Given the description of an element on the screen output the (x, y) to click on. 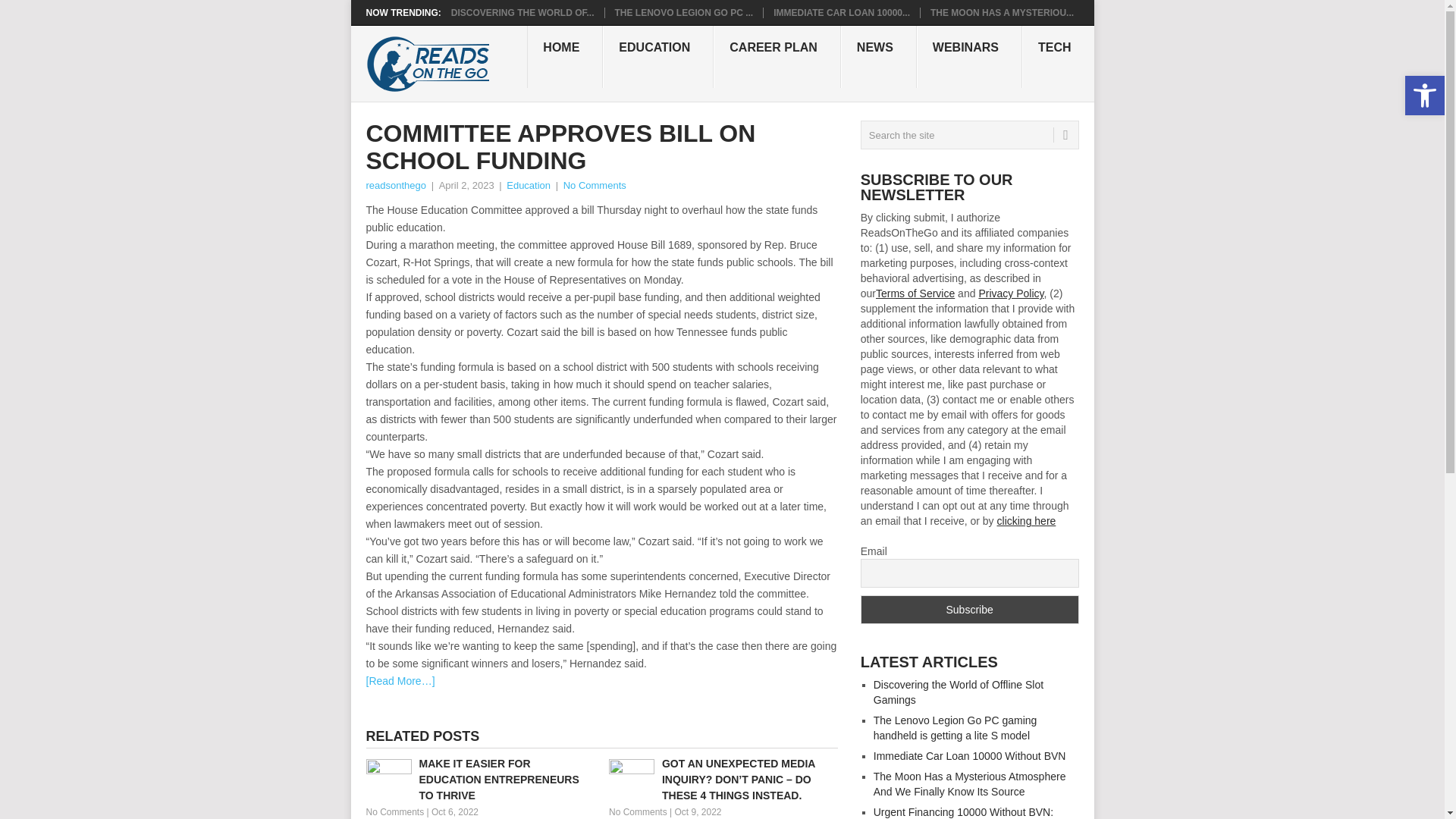
MAKE IT EASIER FOR EDUCATION ENTREPRENEURS TO THRIVE (479, 779)
TECH (1058, 56)
Make it easier for education entrepreneurs to thrive (479, 779)
No Comments (637, 811)
NEWS (879, 56)
IMMEDIATE CAR LOAN 10000... (841, 12)
Discovering the World of Offline Slot Gamings (522, 12)
Accessibility Tools (1424, 95)
Posts by readsonthego (395, 184)
